Given the description of an element on the screen output the (x, y) to click on. 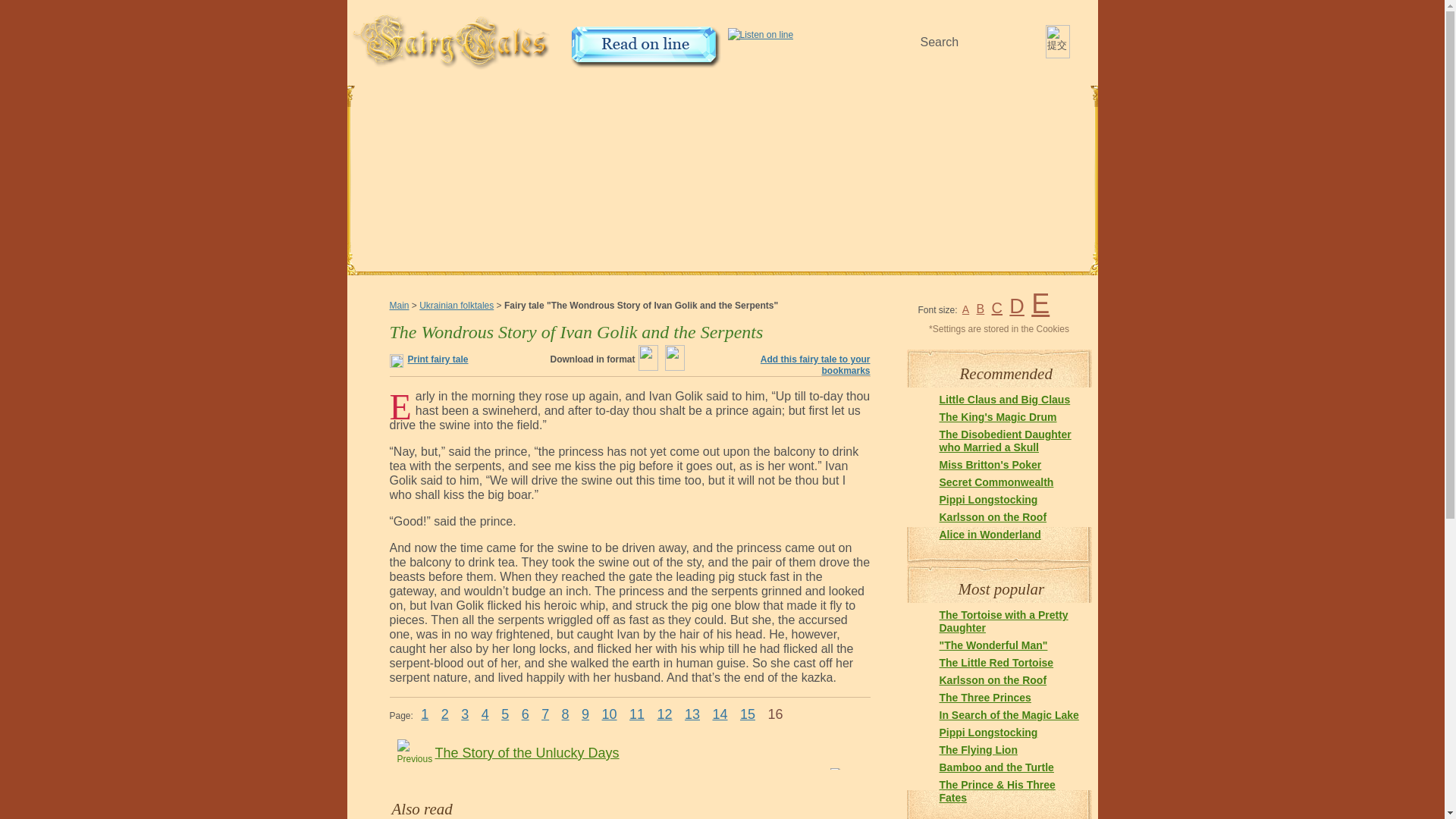
Pippi Longstocking (987, 732)
In Search of the Magic Lake (1008, 715)
Karlsson on the Roof (992, 517)
Ukrainian folktales (456, 305)
Print fairy tale (437, 358)
The Flying Lion (977, 749)
Pippi Longstocking (987, 499)
Secret Commonwealth (995, 481)
The Little Red Tortoise (995, 662)
"The Wonderful Man" (992, 645)
Little Claus and Big Claus (1004, 399)
Main (399, 305)
Miss Britton's Poker (990, 464)
The Tortoise with a Pretty Daughter (1003, 621)
The Three Princes (984, 697)
